Given the description of an element on the screen output the (x, y) to click on. 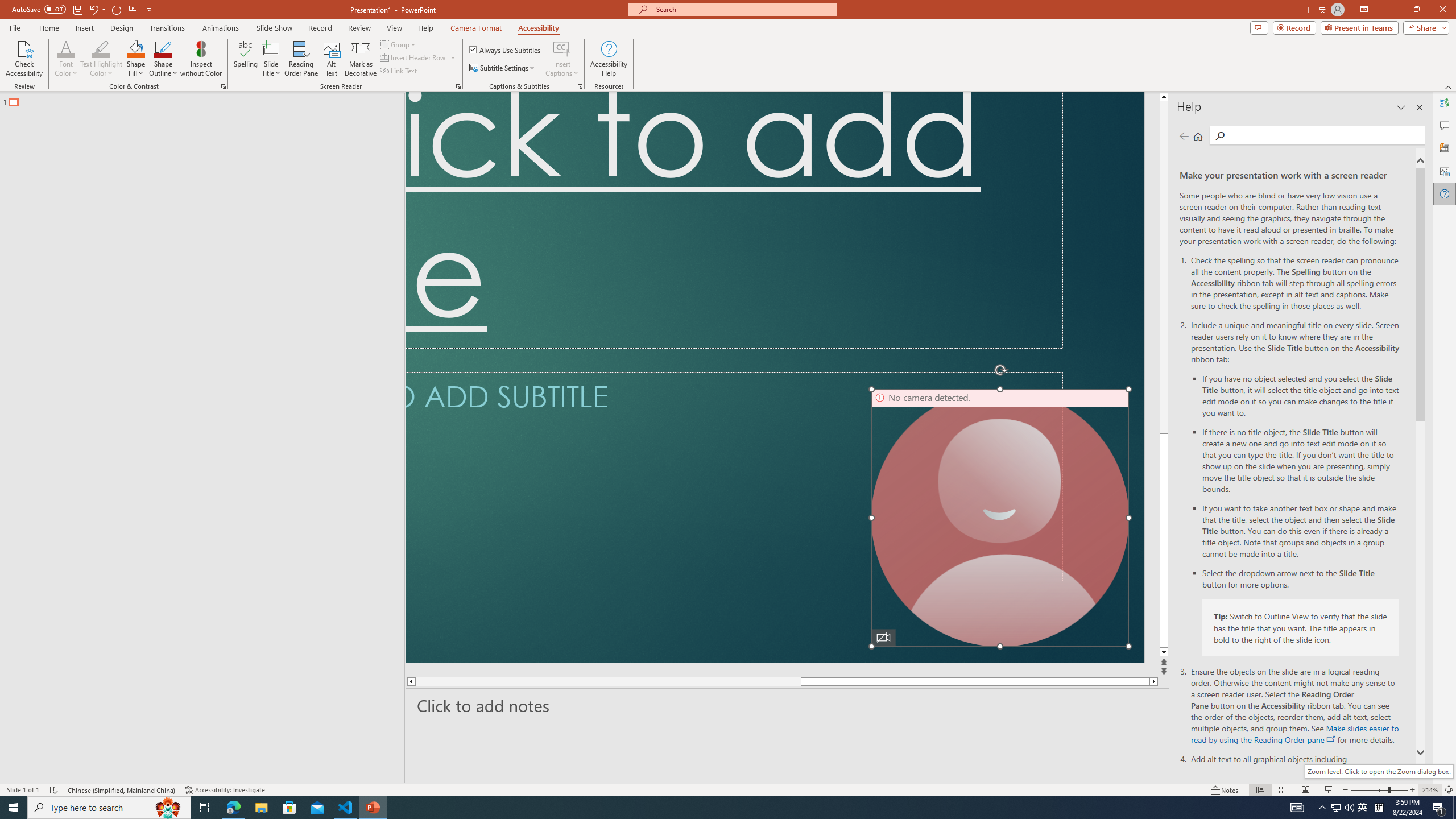
openinnewwindow (1330, 739)
Insert Header Row (413, 56)
